Given the description of an element on the screen output the (x, y) to click on. 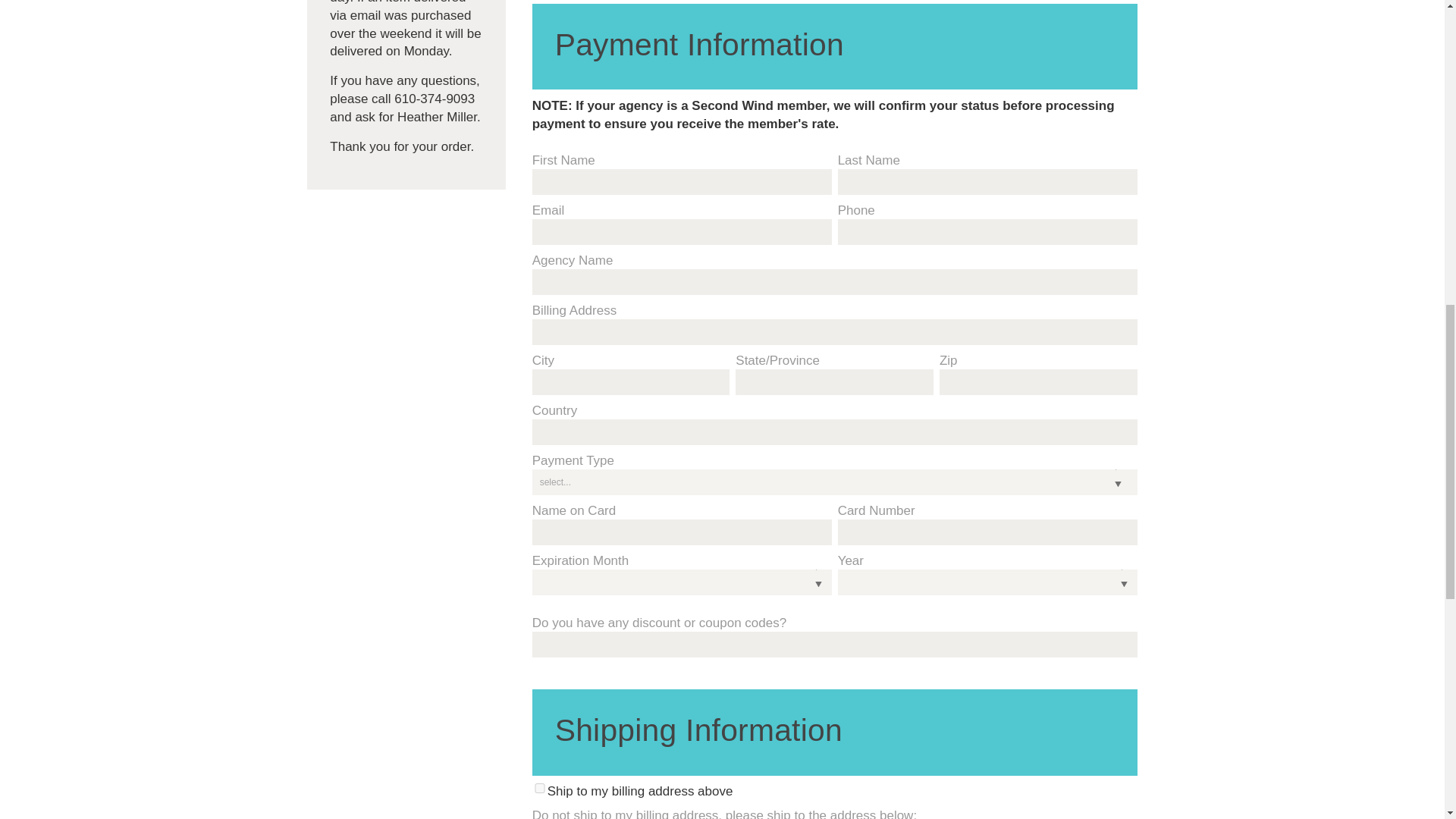
on (539, 787)
